Given the description of an element on the screen output the (x, y) to click on. 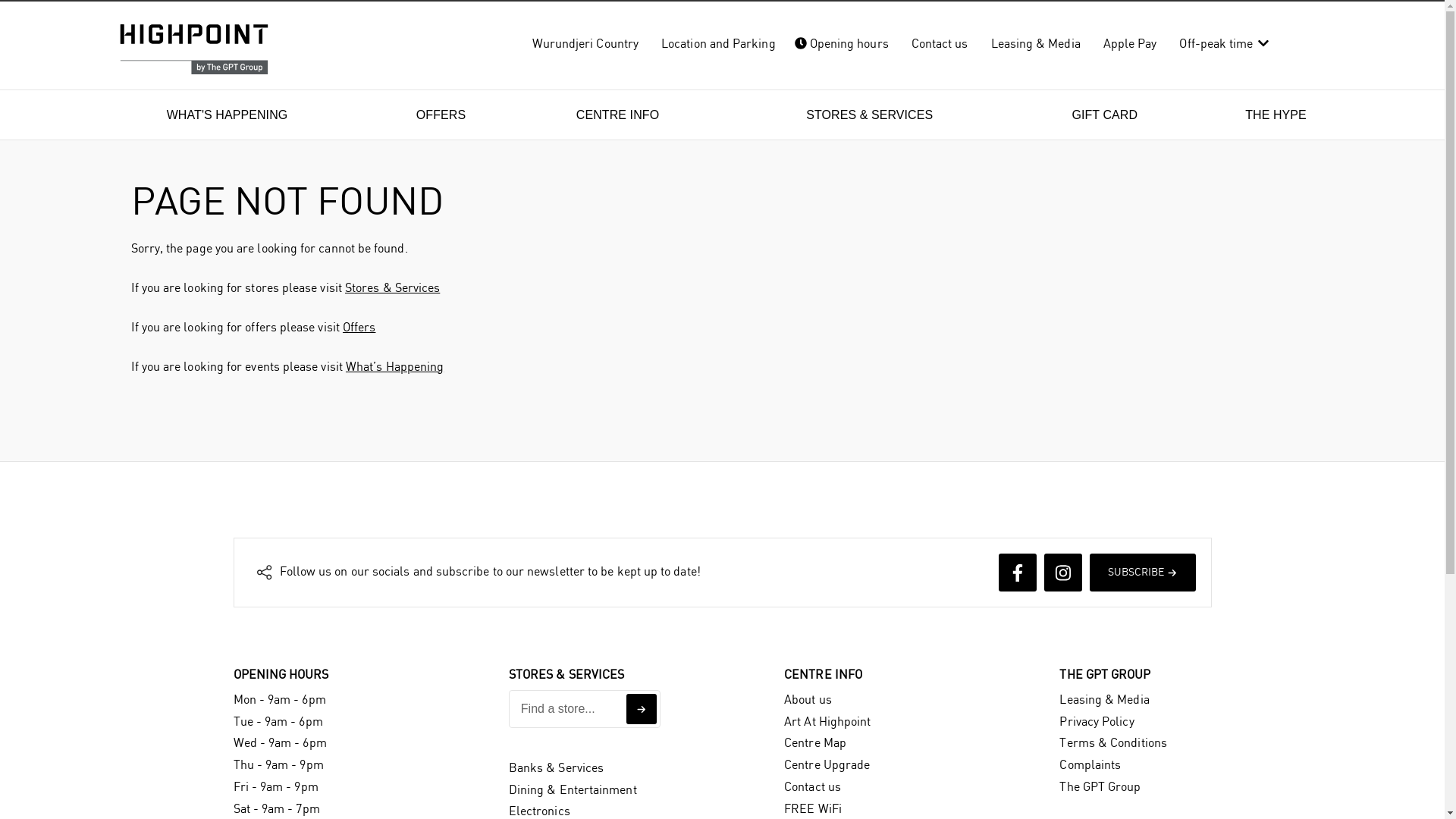
Terms & Conditions Element type: text (1112, 743)
Leasing & Media Element type: text (1103, 699)
THE HYPE Element type: text (1275, 114)
FREE WiFi Element type: text (812, 809)
Contact us Element type: text (939, 43)
Electronics Element type: text (539, 811)
Banks & Services Element type: text (555, 768)
Centre Upgrade Element type: text (826, 765)
Apple Pay Element type: text (1130, 43)
Dining & Entertainment Element type: text (572, 790)
Centre Map Element type: text (815, 743)
OFFERS Element type: text (441, 114)
GIFT CARD Element type: text (1104, 114)
Wurundjeri Country Element type: text (584, 43)
The GPT Group Element type: text (1099, 787)
Privacy Policy Element type: text (1096, 721)
Art At Highpoint Element type: text (827, 721)
Location and Parking Element type: text (718, 43)
SUBSCRIBE Element type: text (1141, 572)
About us Element type: text (807, 699)
Opening hours Element type: text (843, 43)
Leasing & Media Element type: text (1035, 43)
STORES & SERVICES Element type: text (869, 114)
CENTRE INFO Element type: text (617, 114)
Contact us Element type: text (812, 787)
WHAT'S HAPPENING Element type: text (227, 114)
Offers Element type: text (358, 327)
Stores & Services Element type: text (392, 288)
Complaints Element type: text (1089, 765)
